Given the description of an element on the screen output the (x, y) to click on. 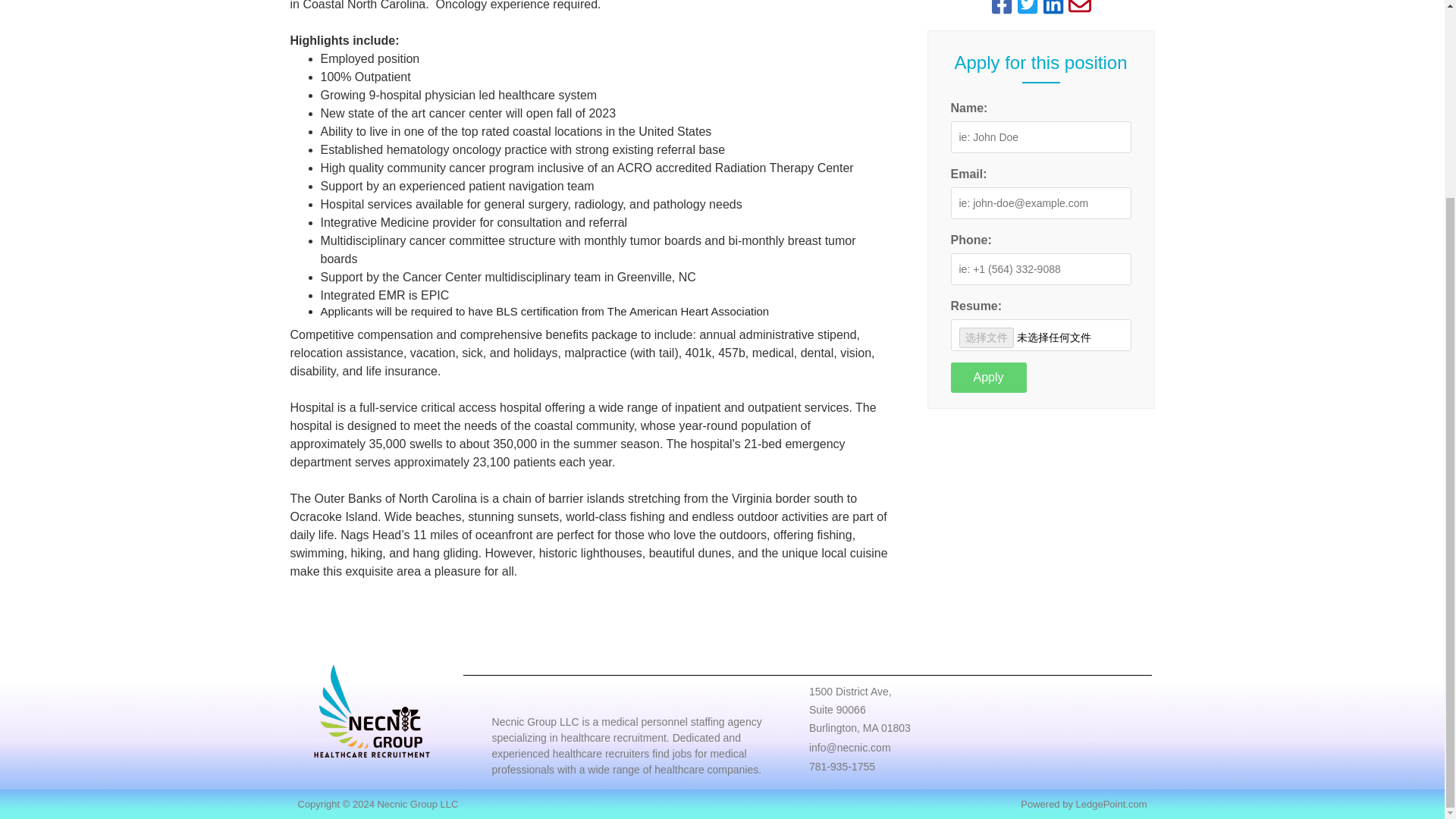
Powered by LedgePoint.com (1083, 803)
Share on Facebook (1001, 7)
Share on Twitter (1027, 7)
Apply (988, 377)
Share on LinkedIn (1053, 7)
Apply (988, 377)
